Given the description of an element on the screen output the (x, y) to click on. 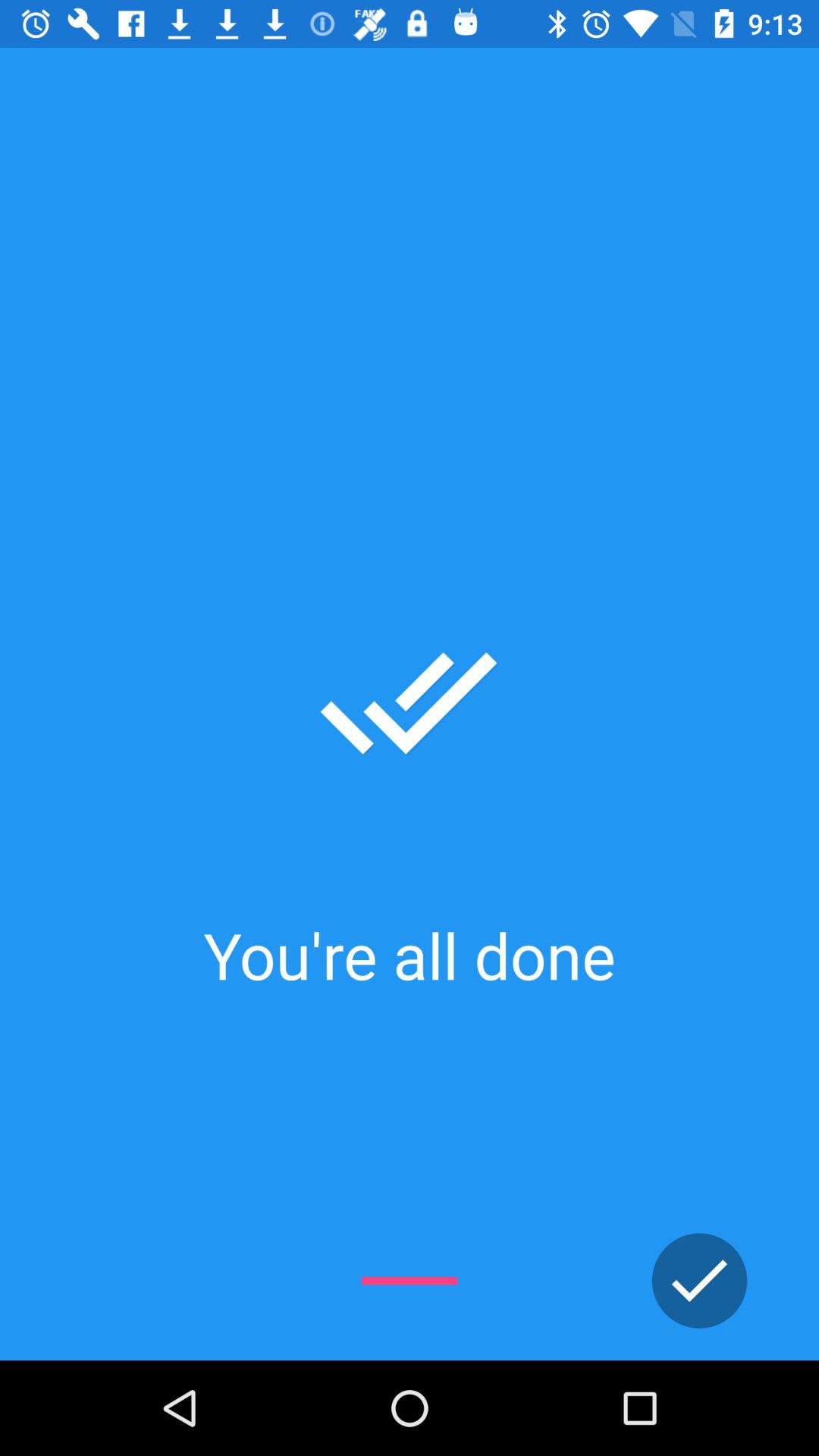
all set (699, 1280)
